Given the description of an element on the screen output the (x, y) to click on. 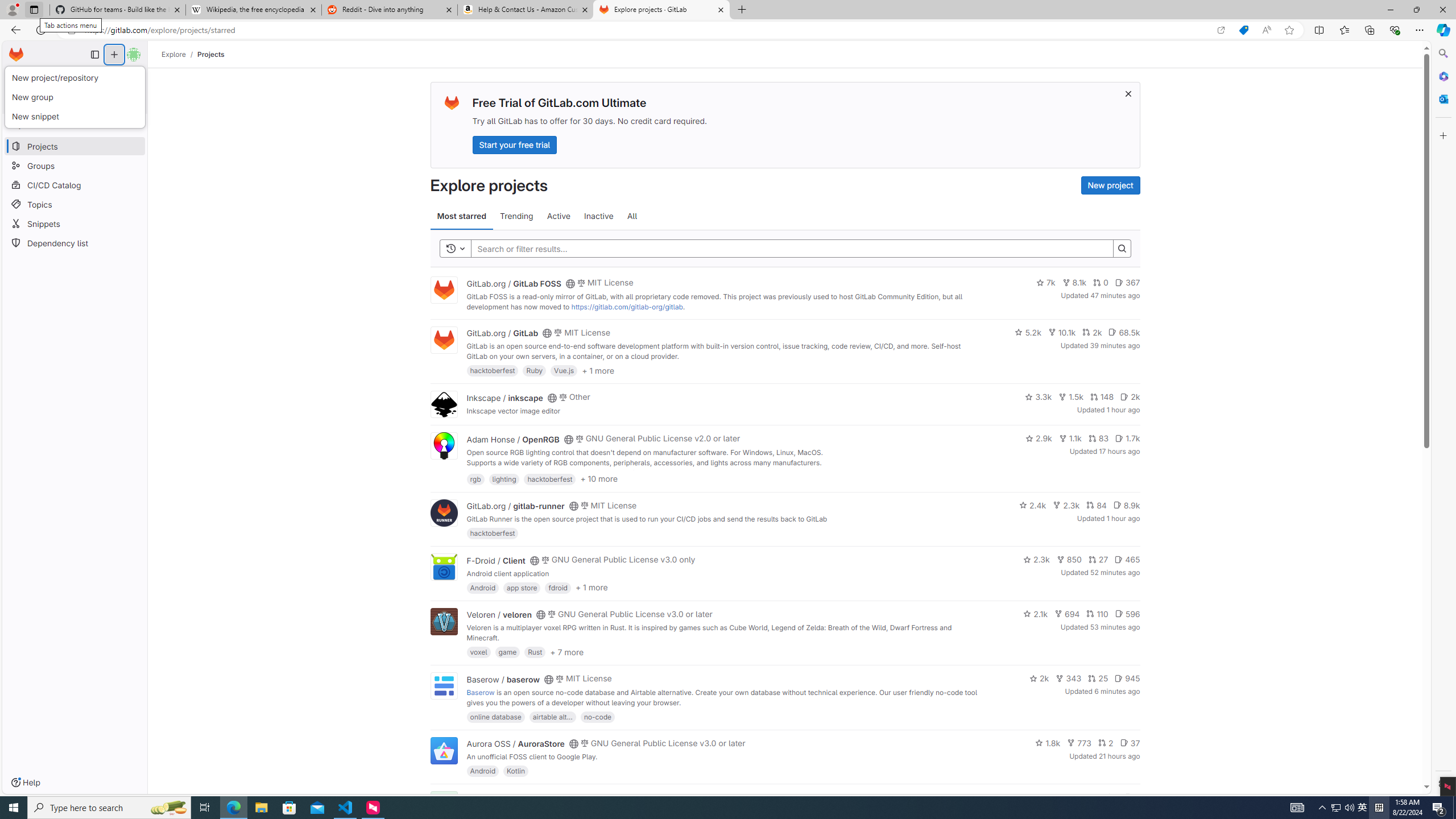
Toggle history (455, 248)
Homepage (16, 54)
Class: s16 (568, 798)
Dependency list (74, 242)
New project/repository (75, 77)
